Given the description of an element on the screen output the (x, y) to click on. 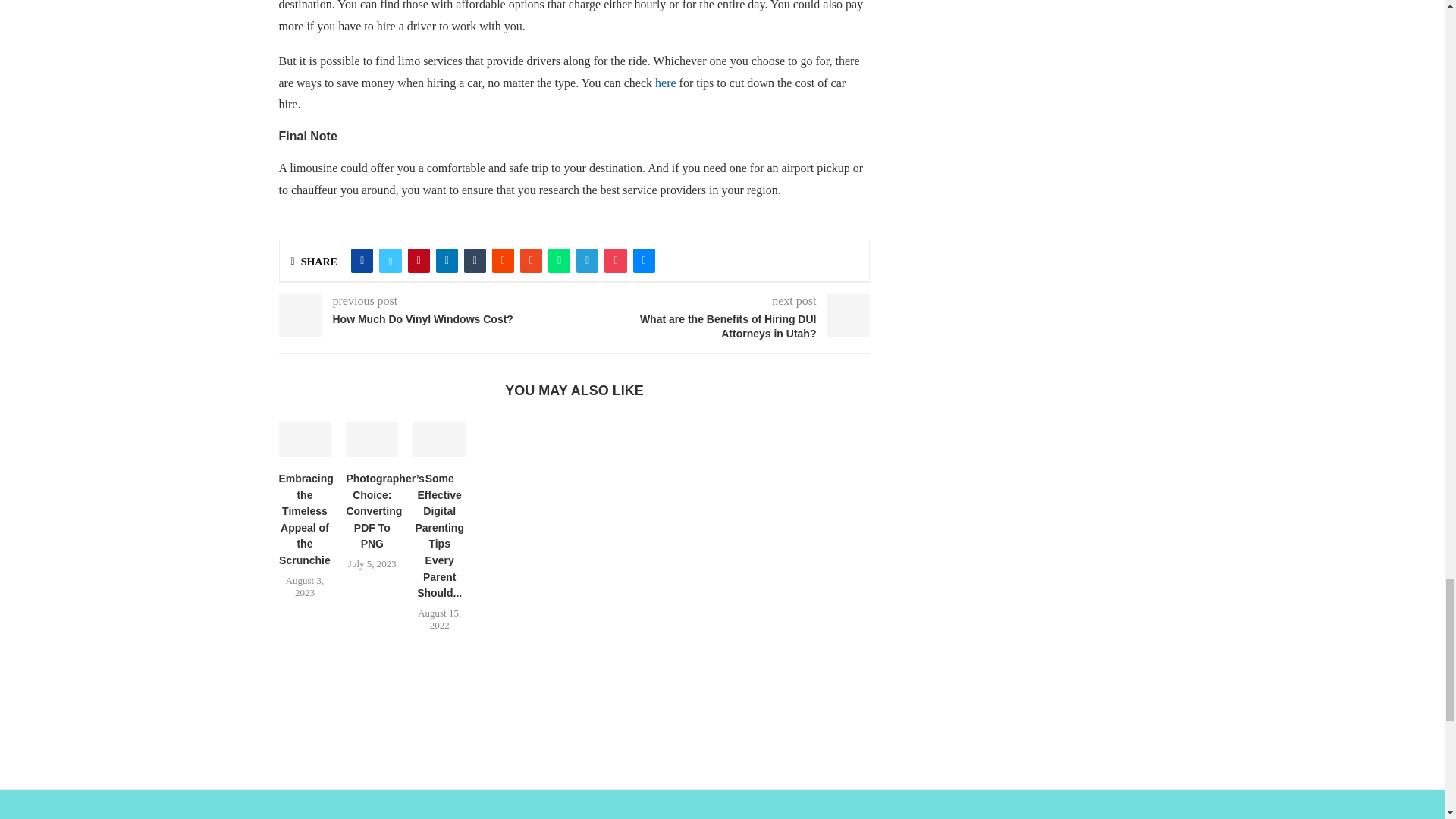
Embracing the Timeless Appeal of the Scrunchie (305, 439)
